Given the description of an element on the screen output the (x, y) to click on. 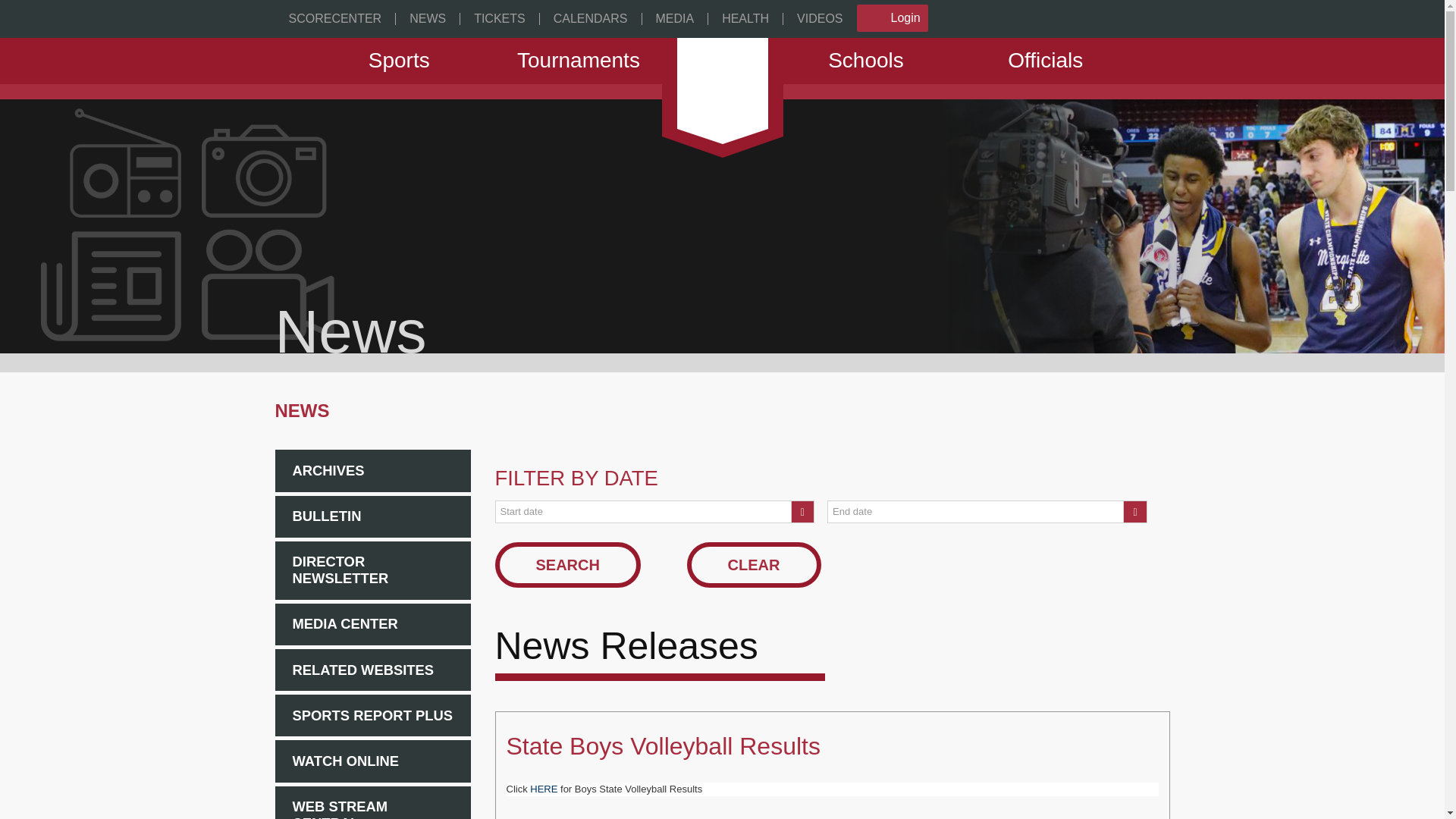
SCORECENTER (334, 18)
Filter by Date (642, 511)
Filter by Date (821, 478)
Login (892, 17)
MEDIA (674, 18)
HEALTH (745, 18)
Sports (398, 60)
NEWS (427, 18)
Filter by Date (975, 511)
TICKETS (499, 18)
CALENDARS (590, 18)
VIDEOS (819, 18)
